Given the description of an element on the screen output the (x, y) to click on. 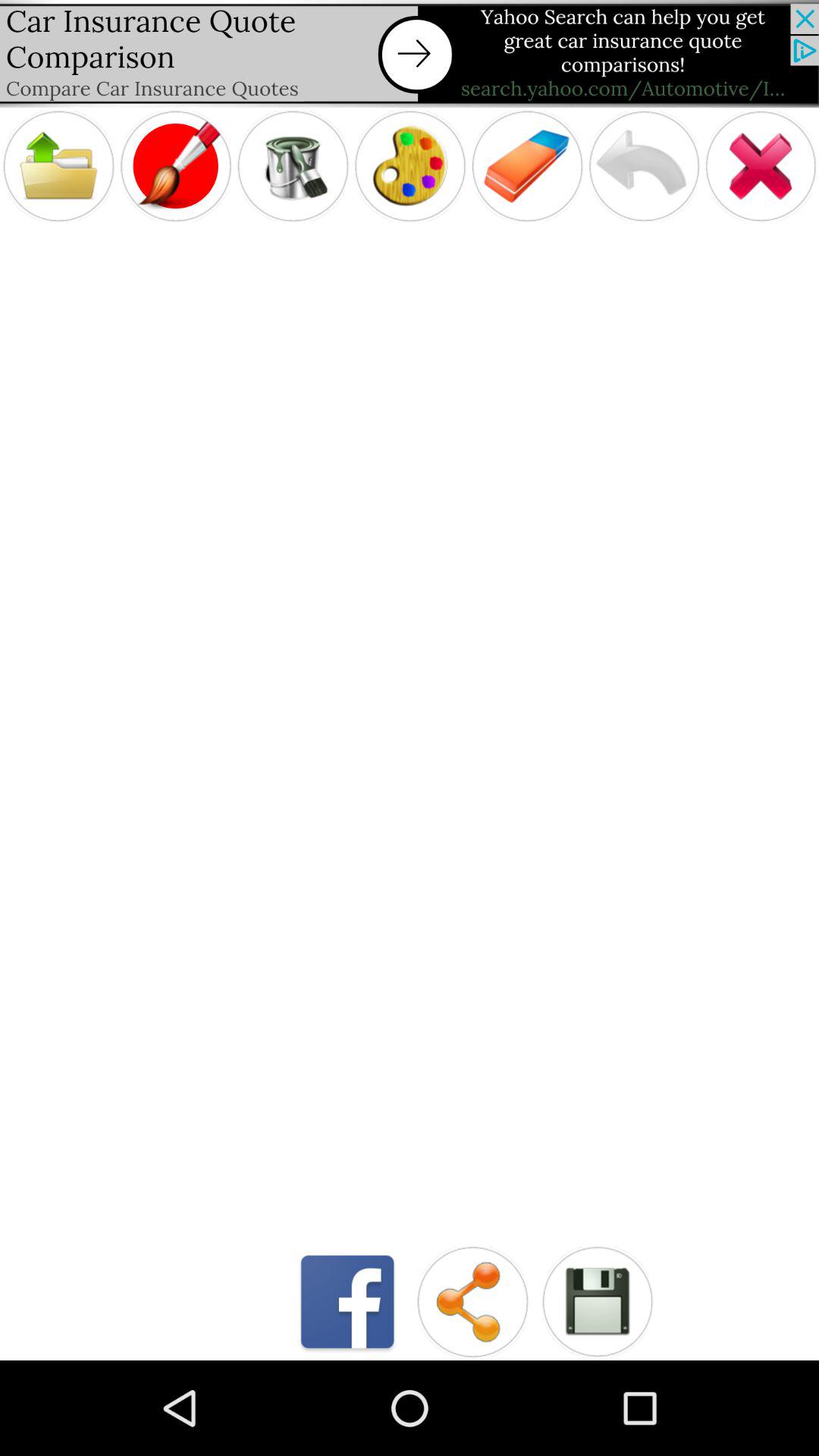
share (472, 1301)
